Given the description of an element on the screen output the (x, y) to click on. 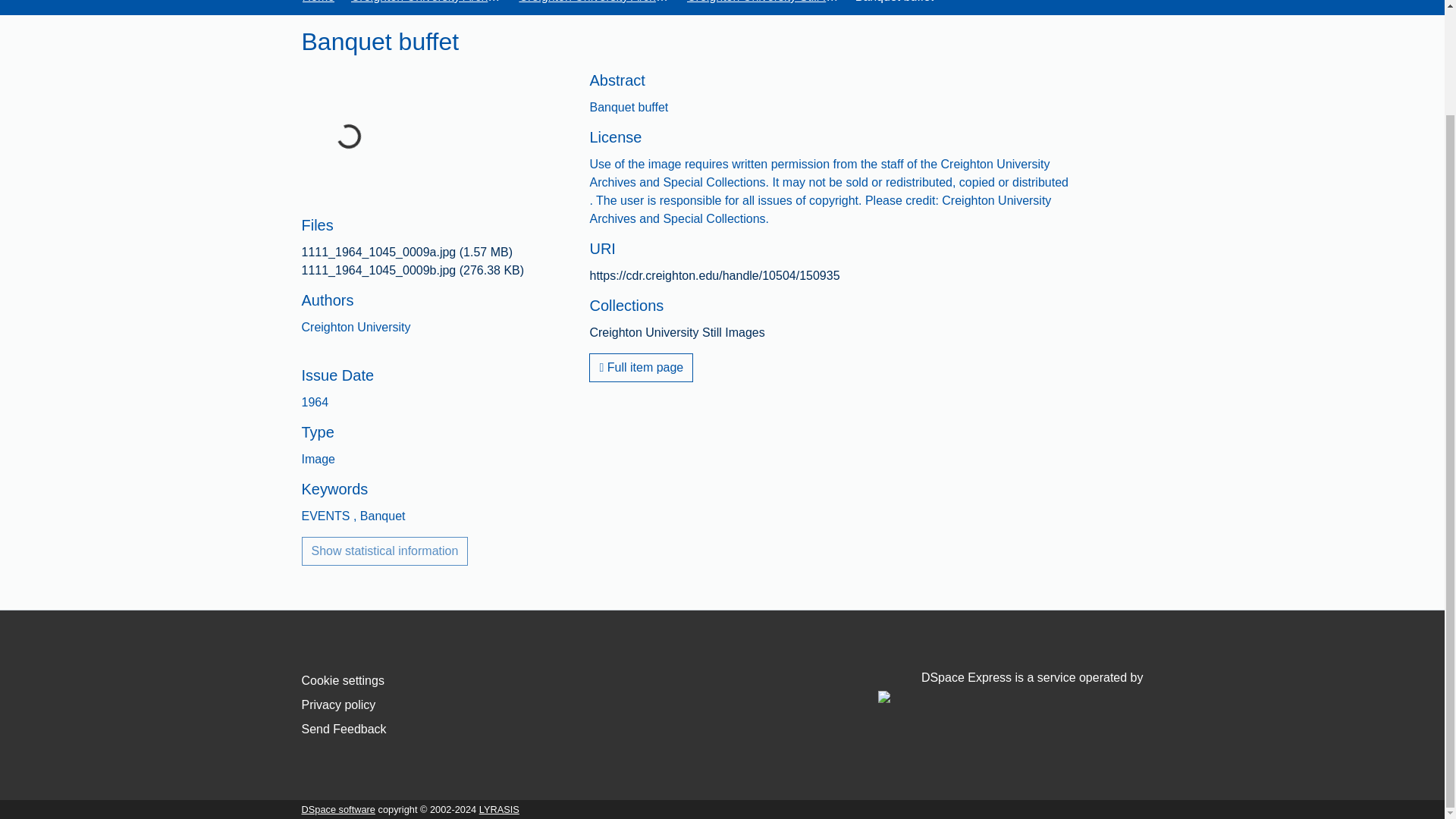
Creighton University Still Images (676, 332)
DSpace Express is a service operated by (1009, 686)
DSpace software (338, 808)
Full item page (641, 367)
Creighton University Archives (593, 2)
Show statistical information (384, 551)
Creighton University Still Images (762, 2)
Send Feedback (344, 728)
Cookie settings (342, 680)
Privacy policy (338, 704)
Home (317, 2)
LYRASIS (499, 808)
Creighton University Archives and Special Collections (426, 2)
